Given the description of an element on the screen output the (x, y) to click on. 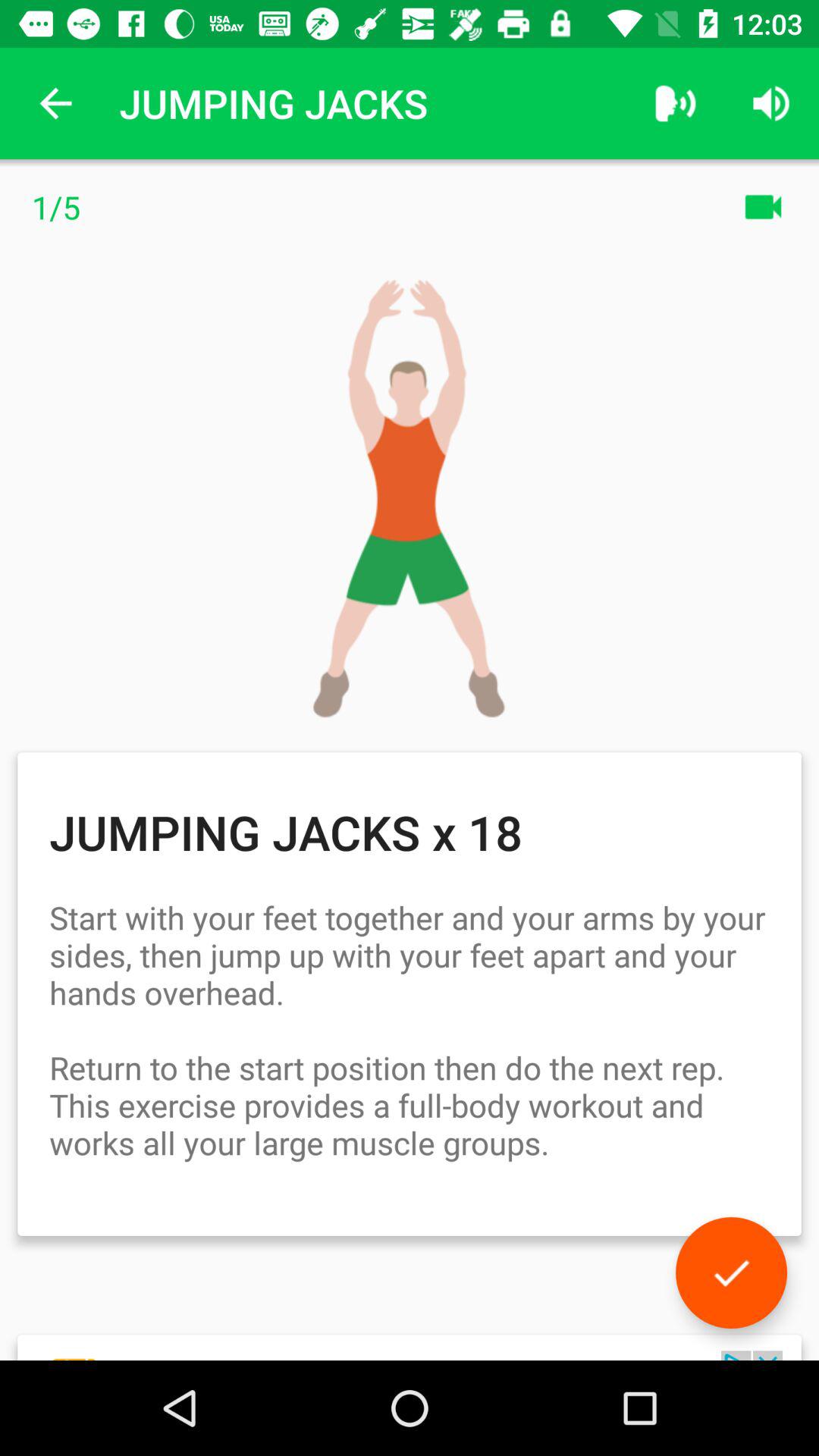
because back devicer (731, 1272)
